Given the description of an element on the screen output the (x, y) to click on. 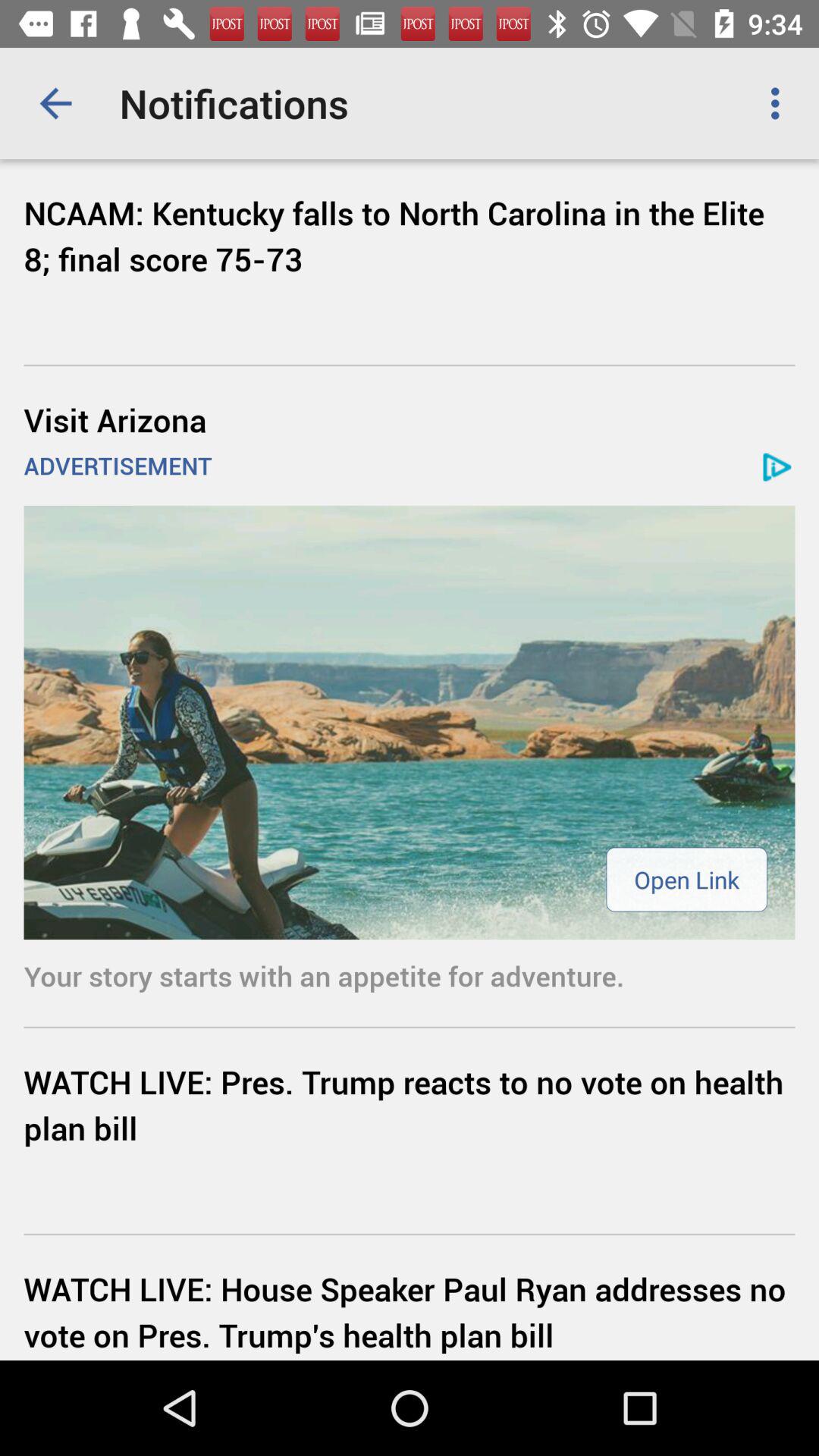
select icon below ncaam kentucky falls icon (409, 419)
